Given the description of an element on the screen output the (x, y) to click on. 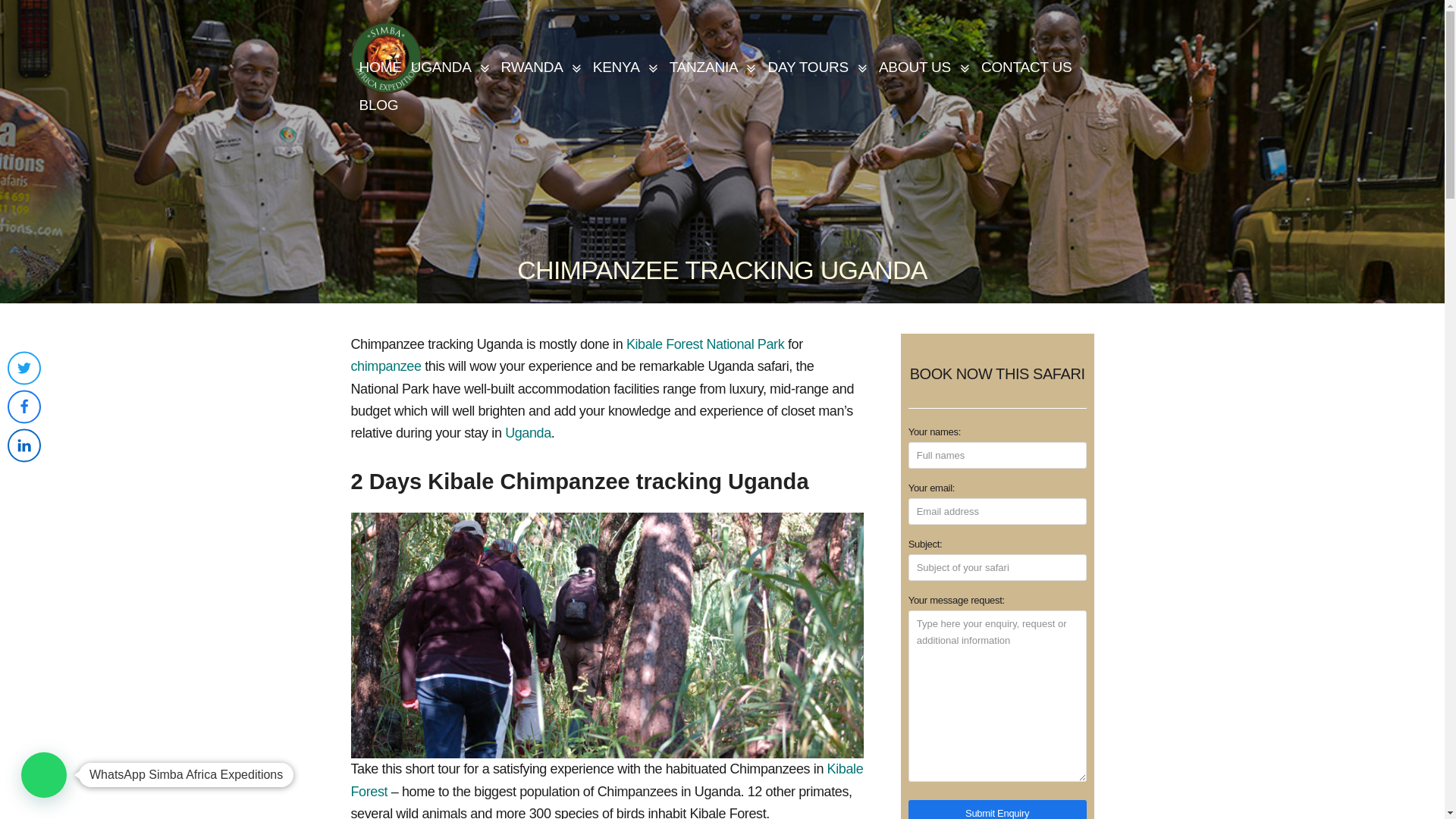
Home (379, 68)
Submit Enquiry (997, 809)
Uganda (451, 68)
UGANDA (451, 68)
HOME (379, 68)
